Given the description of an element on the screen output the (x, y) to click on. 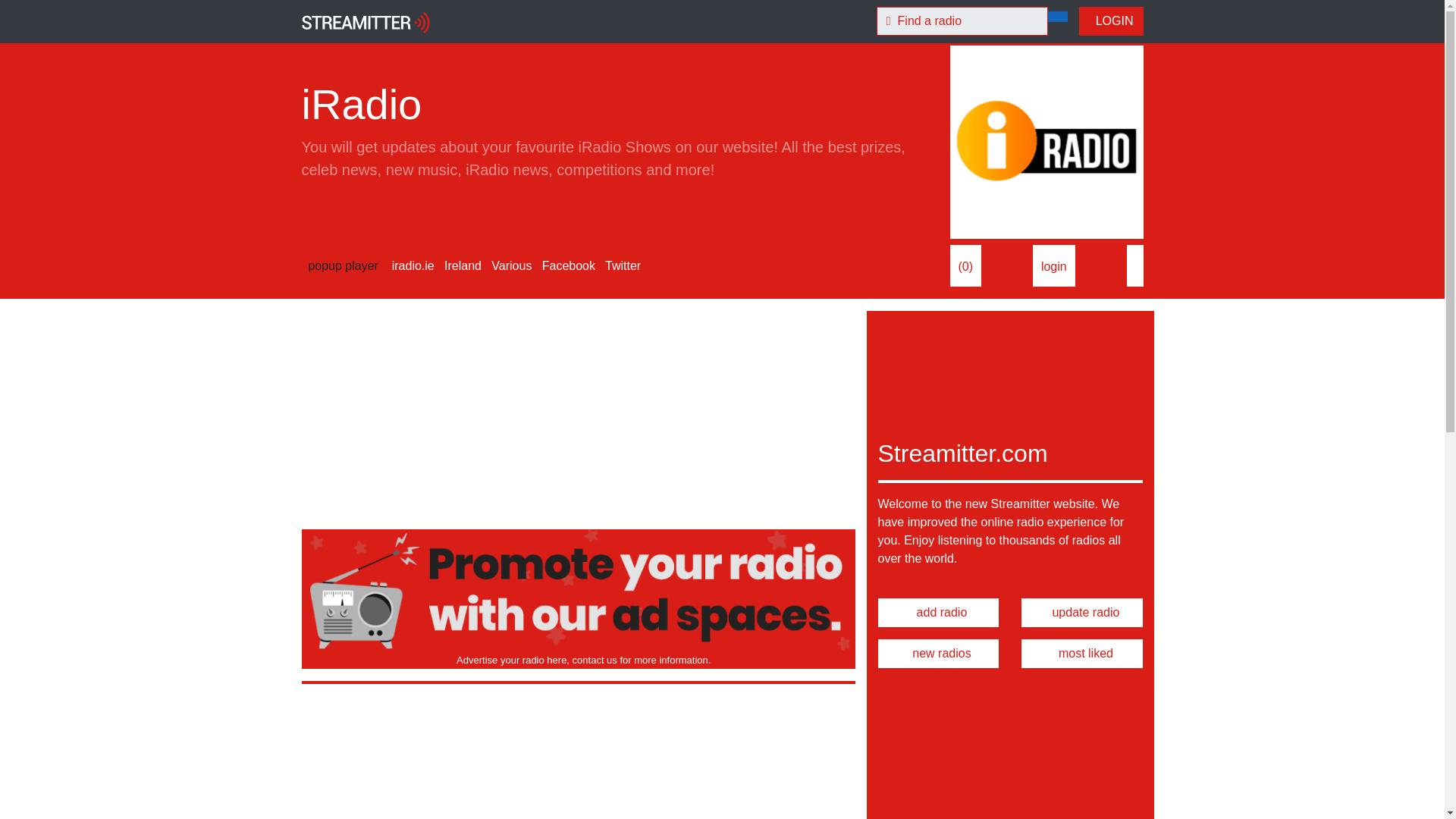
Streamitter.com - we love radio (365, 20)
  add radio (937, 612)
 Ireland (461, 265)
Login to save this radio as a favorite. (1053, 265)
iRadio (1045, 142)
Ireland (461, 265)
  LOGIN (1110, 21)
Advertisement (578, 417)
 Various (509, 265)
  update radio (1082, 612)
 Facebook (566, 265)
Share iRadio on Facebook. (1134, 265)
  most liked (1082, 653)
 iradio.ie (410, 265)
